Given the description of an element on the screen output the (x, y) to click on. 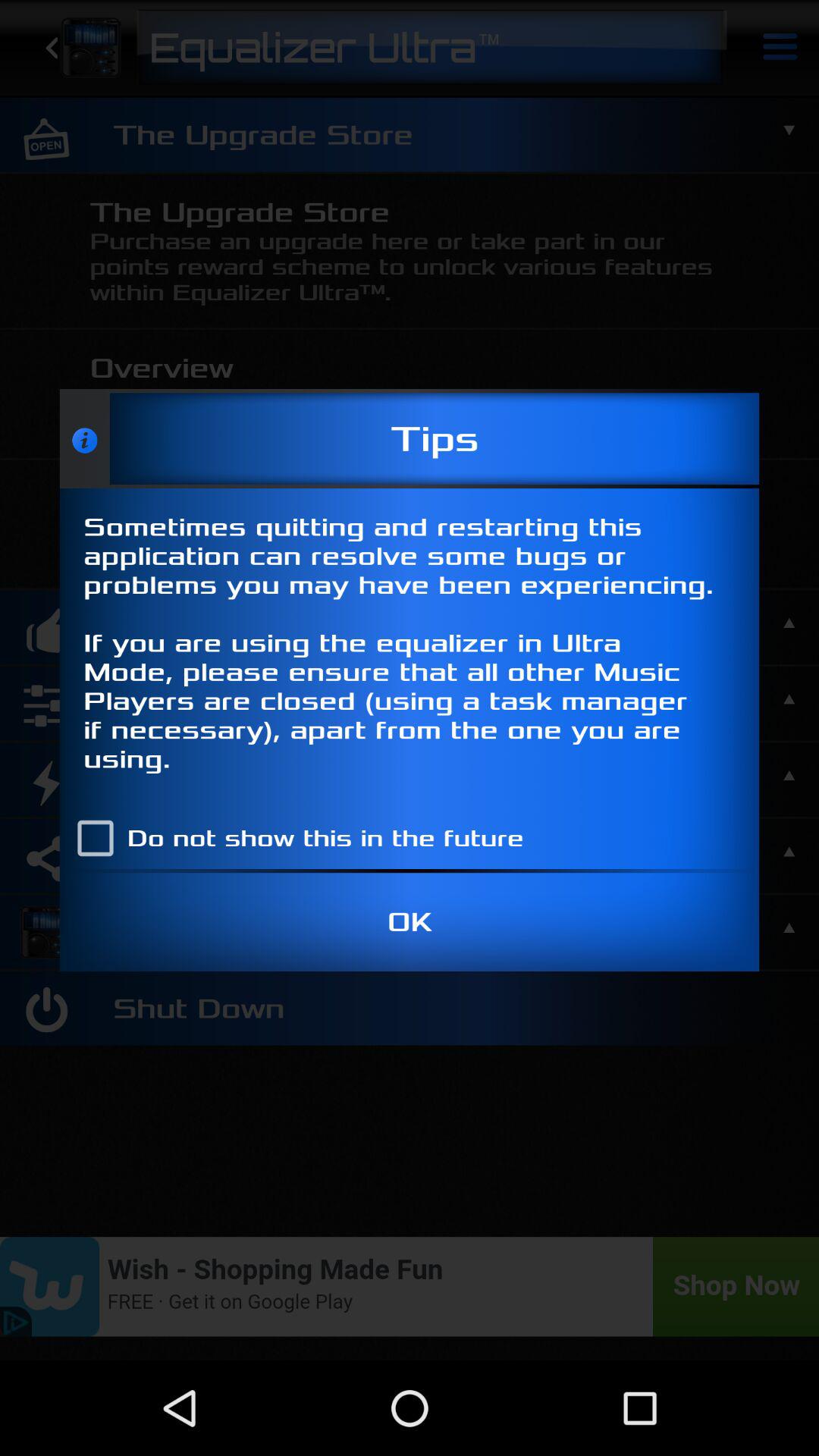
open sometimes quitting and (409, 647)
